Given the description of an element on the screen output the (x, y) to click on. 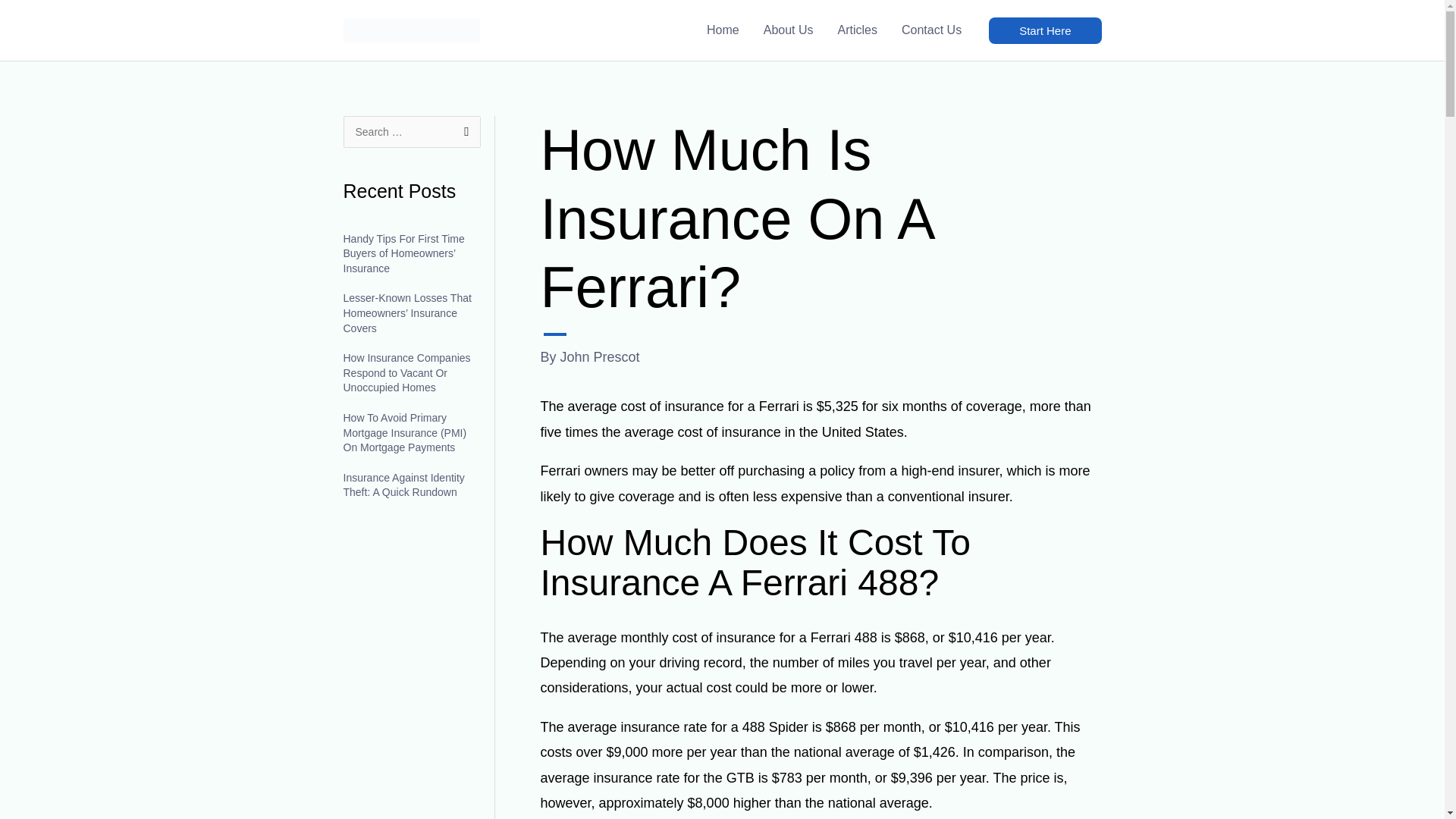
John Prescot (600, 356)
Search (462, 132)
Search (462, 132)
Articles (857, 30)
Home (722, 30)
Search (462, 132)
Contact Us (931, 30)
About Us (788, 30)
Start Here (1044, 29)
Insurance Against Identity Theft: A Quick Rundown (403, 484)
View all posts by John Prescot (600, 356)
